Given the description of an element on the screen output the (x, y) to click on. 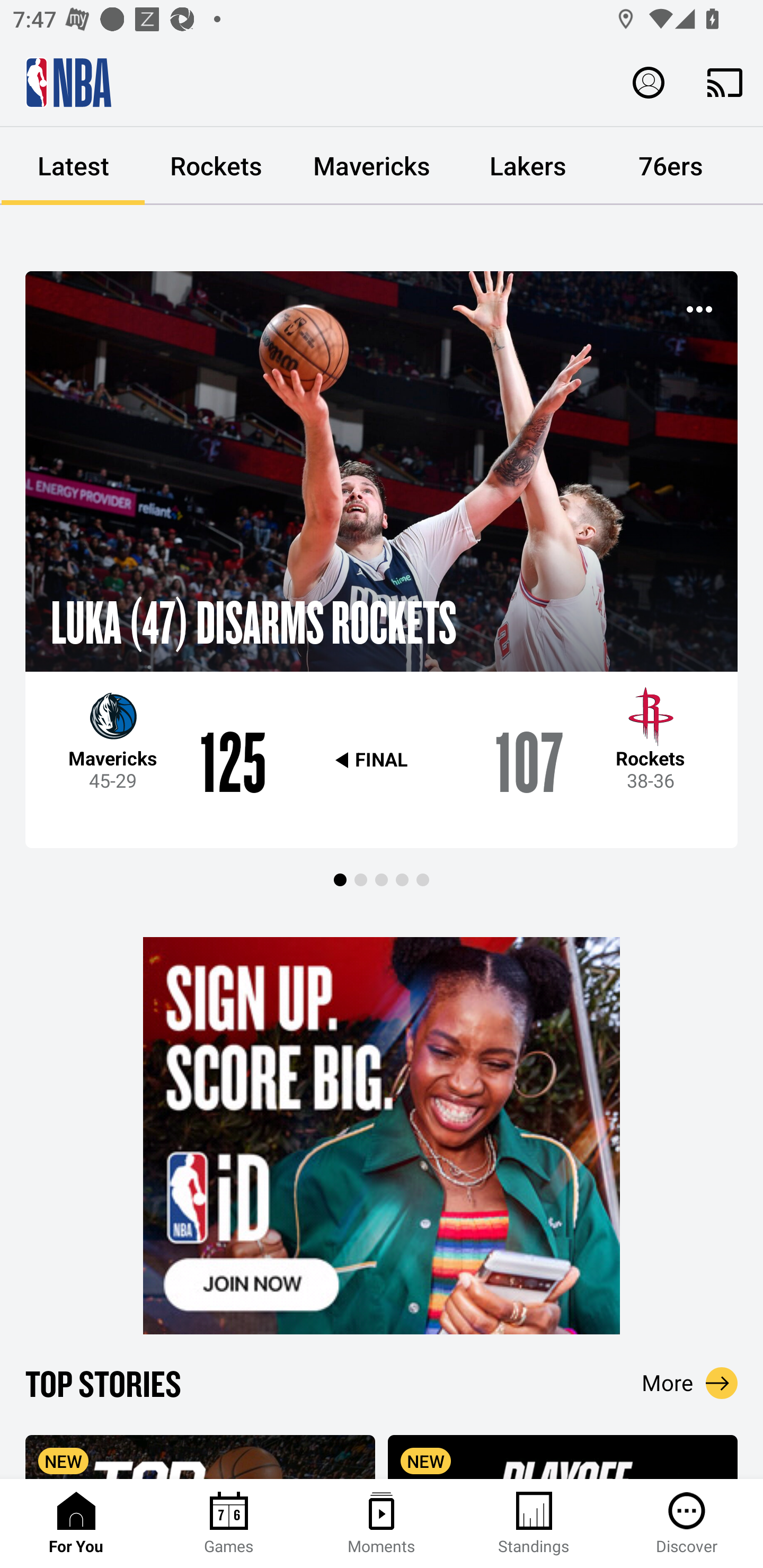
Cast. Disconnected (724, 82)
Profile (648, 81)
Rockets (215, 166)
Mavericks (371, 166)
Lakers (527, 166)
76ers (670, 166)
More (689, 1382)
Games (228, 1523)
Moments (381, 1523)
Standings (533, 1523)
Discover (686, 1523)
